Given the description of an element on the screen output the (x, y) to click on. 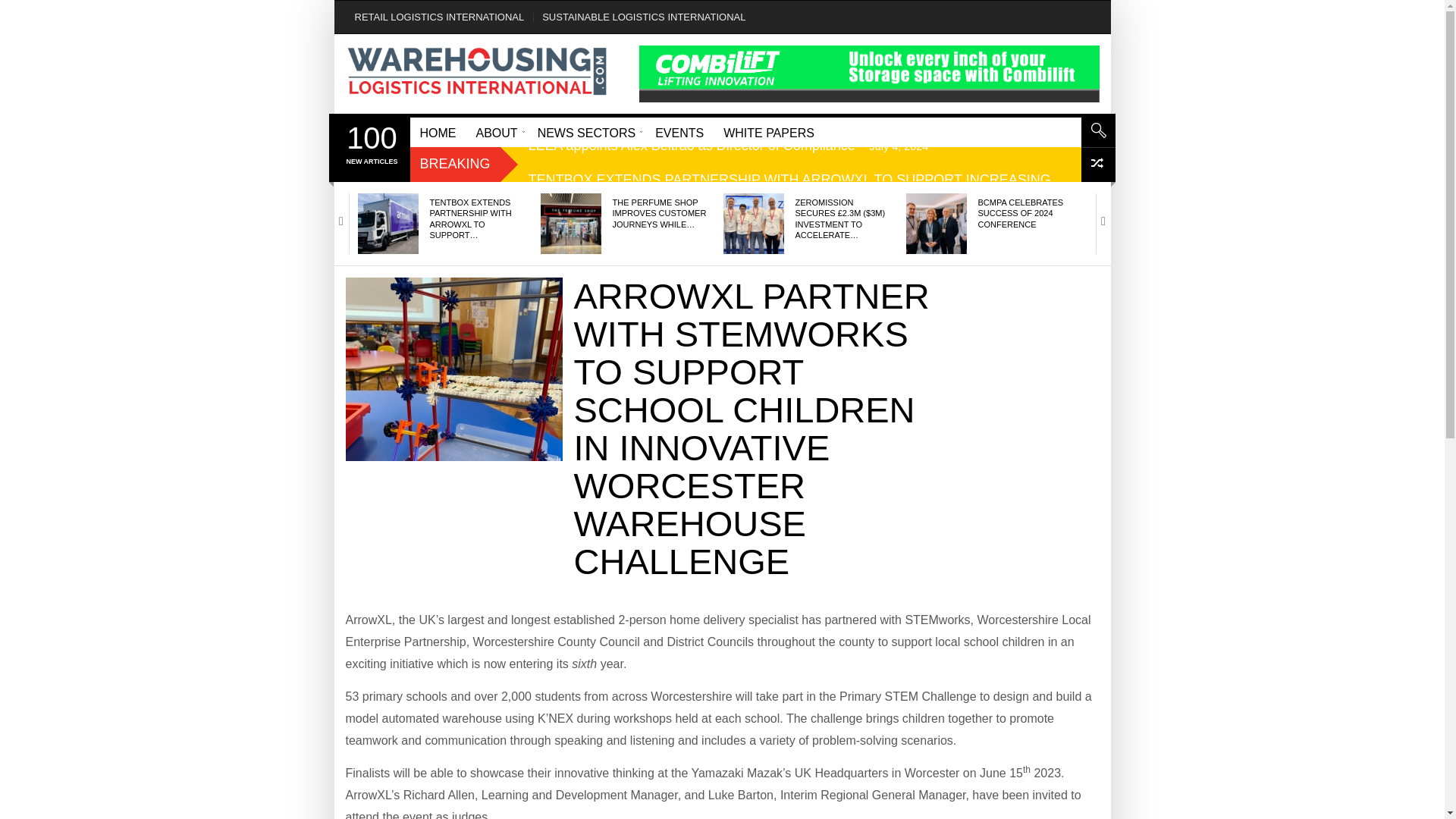
NEWS SECTORS (586, 132)
SUSTAINABLE LOGISTICS INTERNATIONAL (643, 16)
EVENTS (679, 132)
BREAKING (455, 163)
RETAIL LOGISTICS INTERNATIONAL (440, 16)
WHITE PAPERS (768, 132)
ABOUT (496, 132)
HOME (437, 132)
Warehousing Logistics International (478, 71)
